Given the description of an element on the screen output the (x, y) to click on. 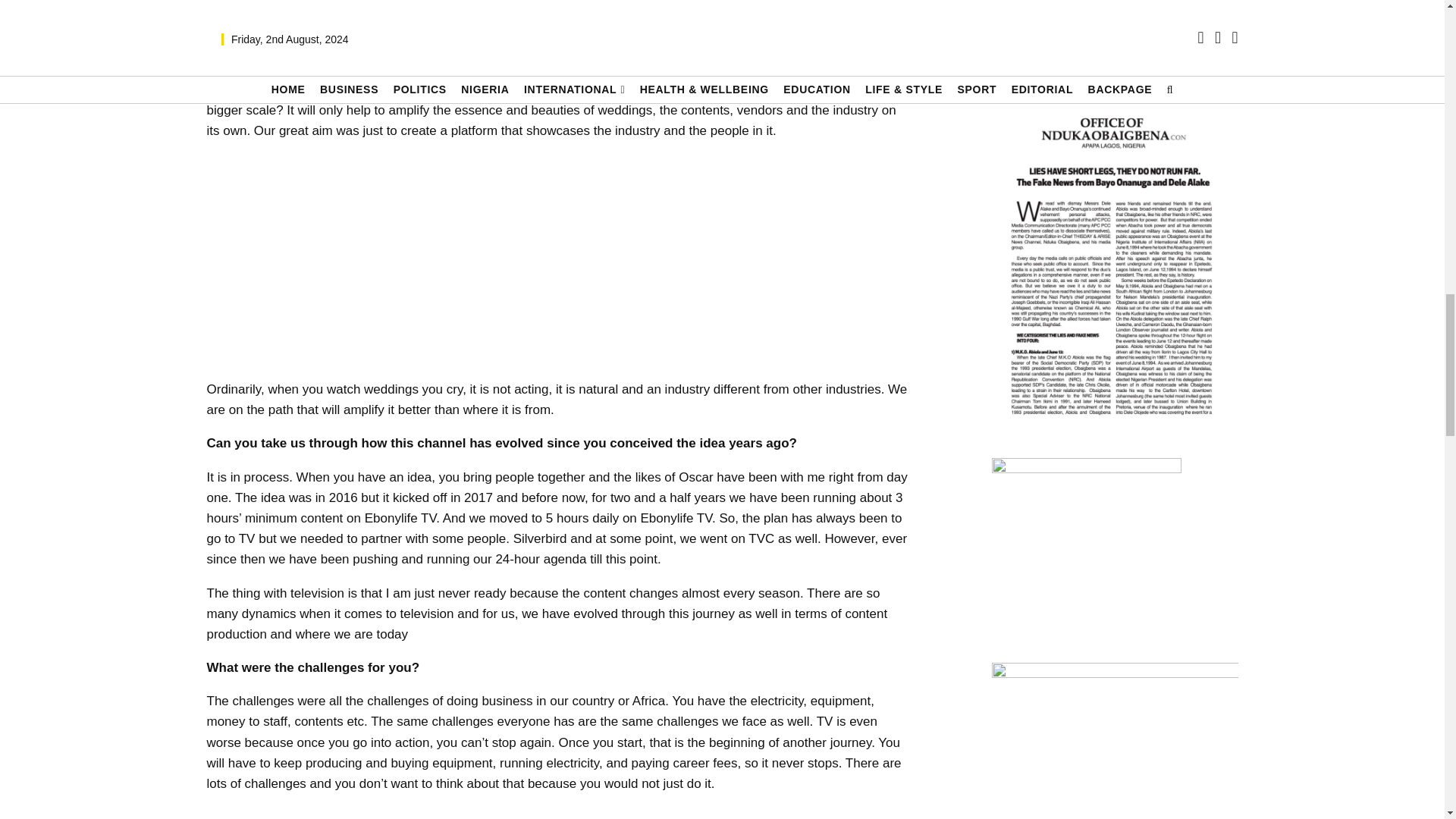
Advertisement (558, 812)
